Given the description of an element on the screen output the (x, y) to click on. 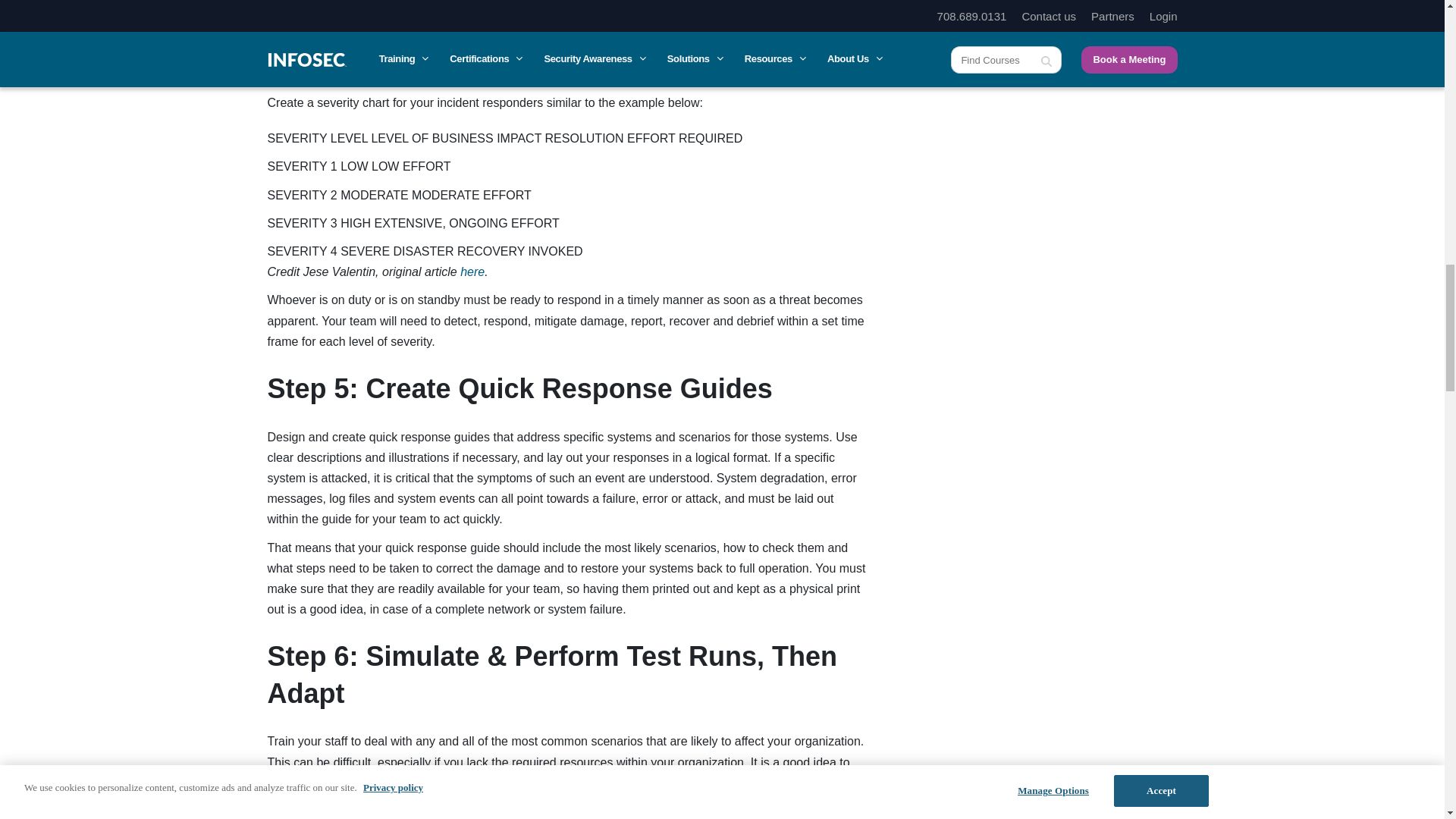
View Certifications (1032, 28)
